Given the description of an element on the screen output the (x, y) to click on. 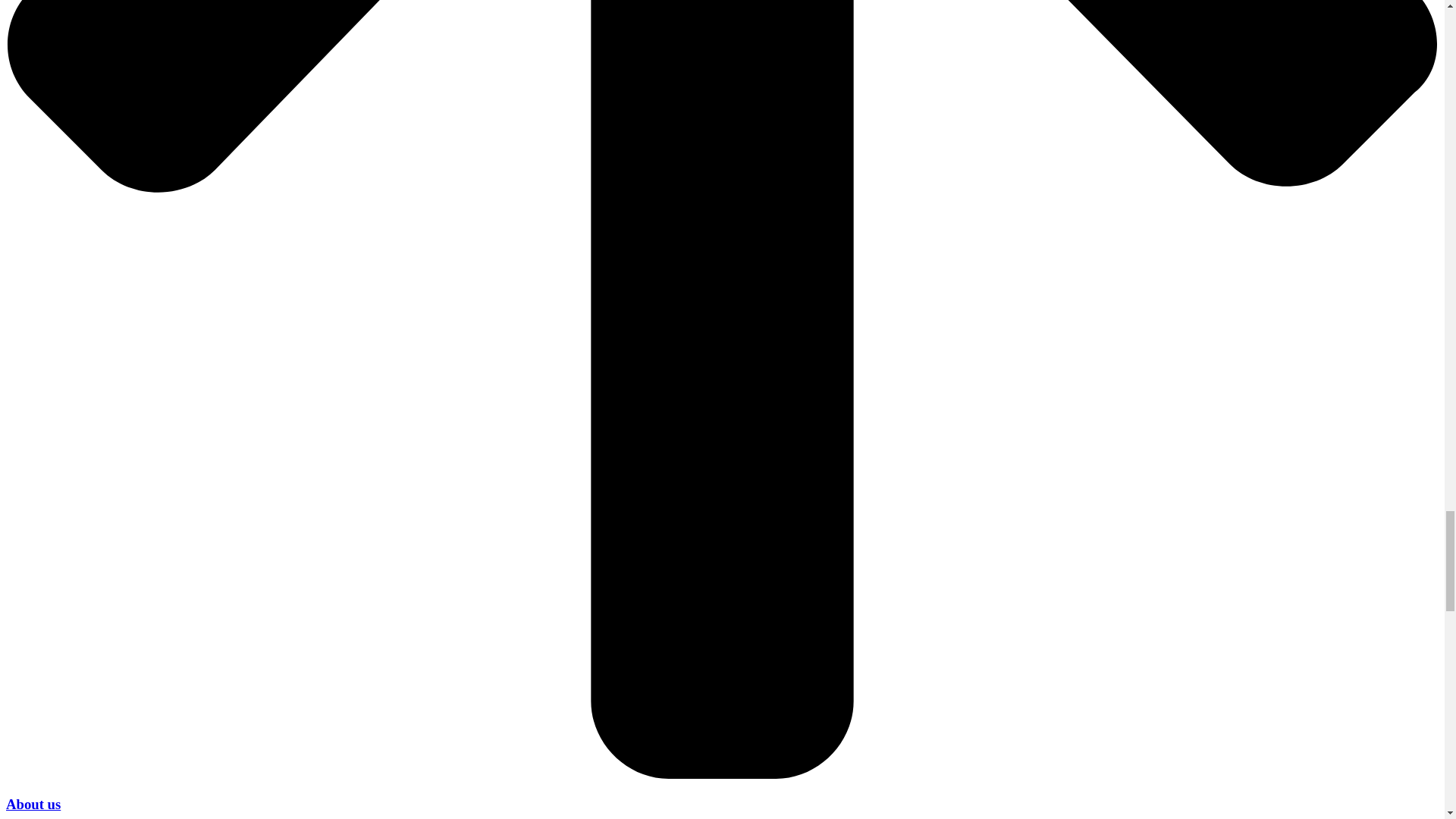
About us (33, 804)
